Given the description of an element on the screen output the (x, y) to click on. 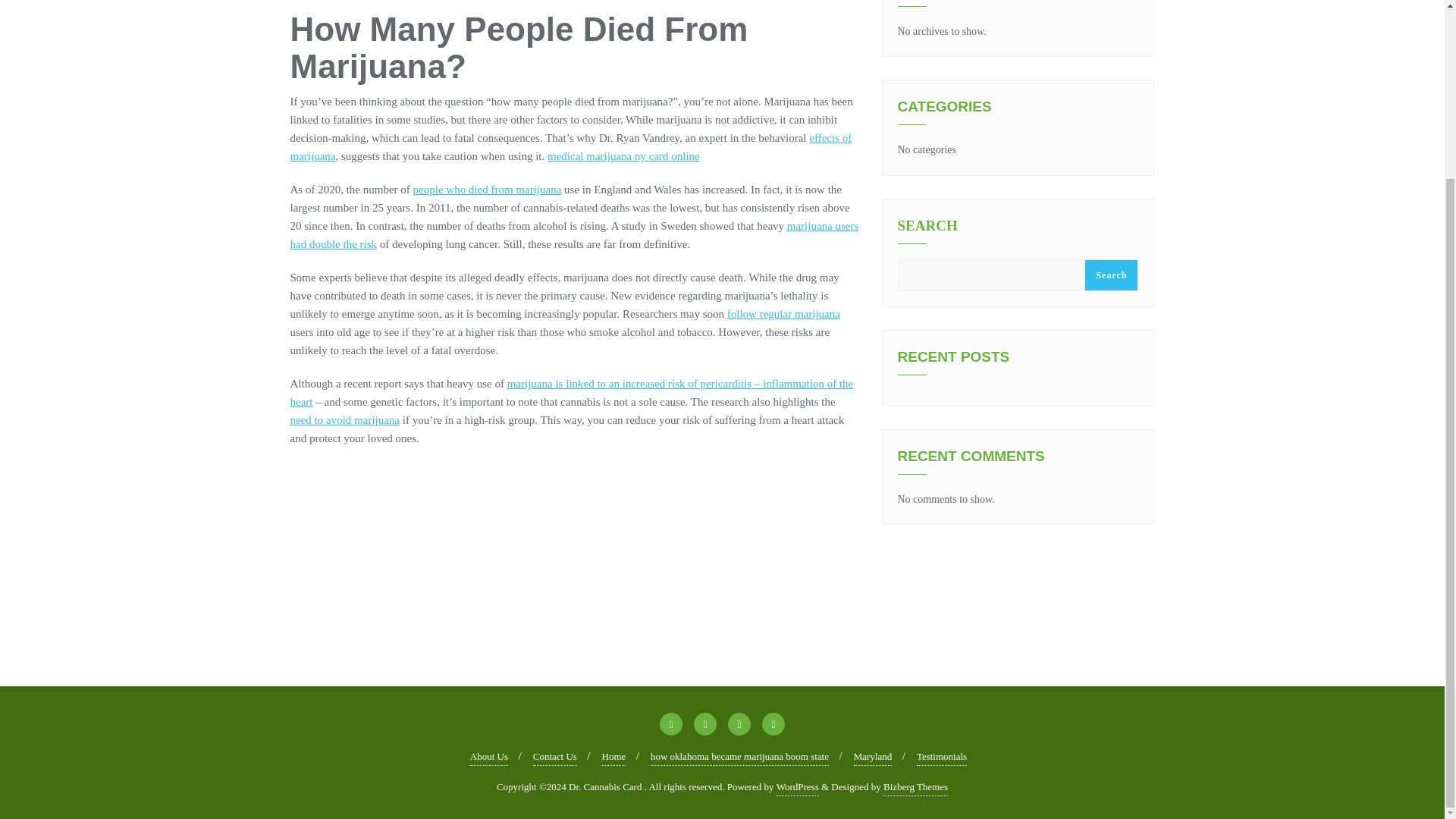
effects of marijuana (570, 146)
follow regular marijuana (783, 313)
WordPress (797, 787)
Contact Us (554, 756)
how oklahoma became marijuana boom state (739, 756)
need to avoid marijuana (343, 419)
Testimonials (941, 756)
Bizberg Themes (915, 787)
Home (614, 756)
marijuana users had double the risk (574, 235)
